Given the description of an element on the screen output the (x, y) to click on. 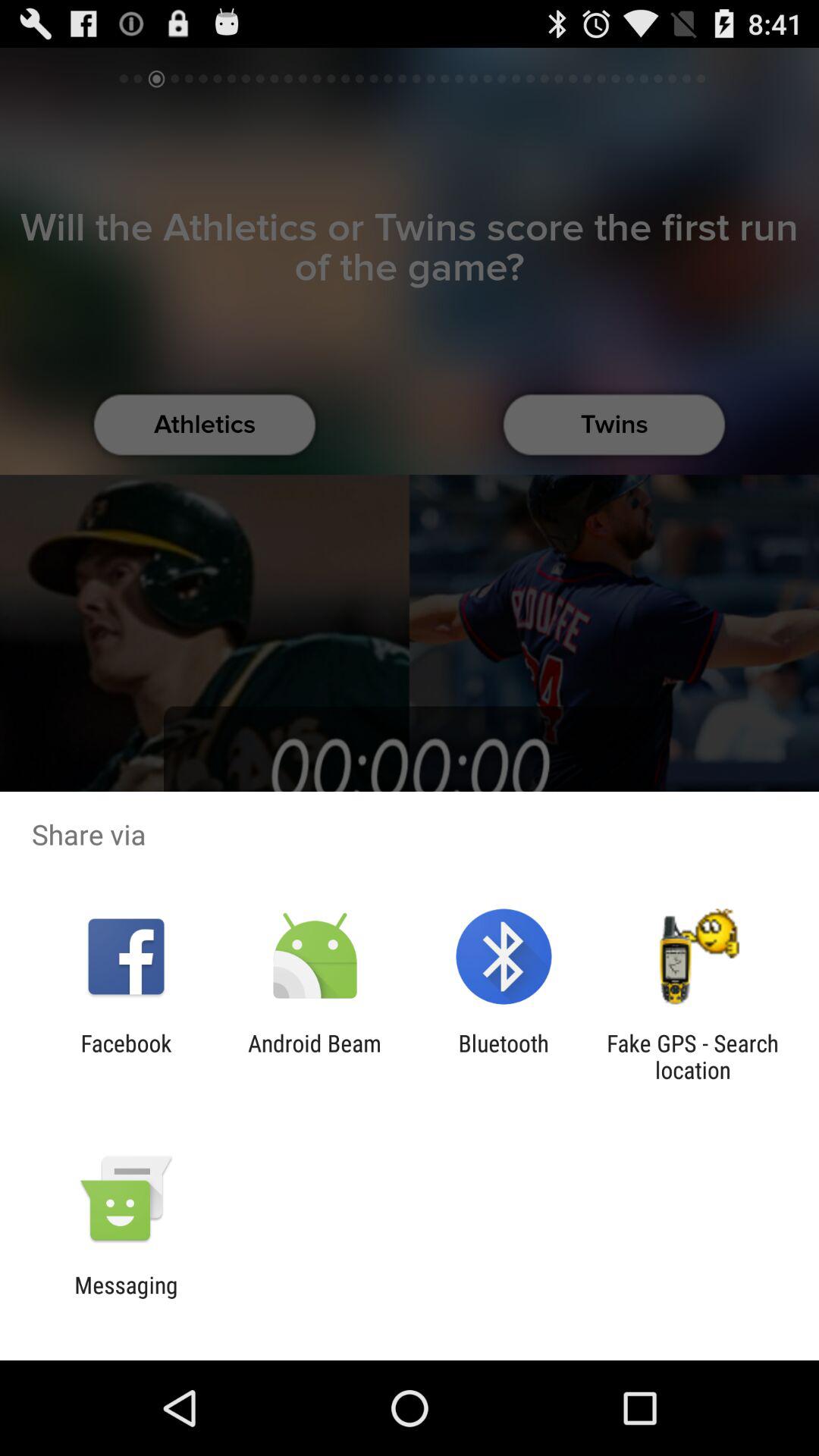
click the icon to the right of bluetooth icon (692, 1056)
